Given the description of an element on the screen output the (x, y) to click on. 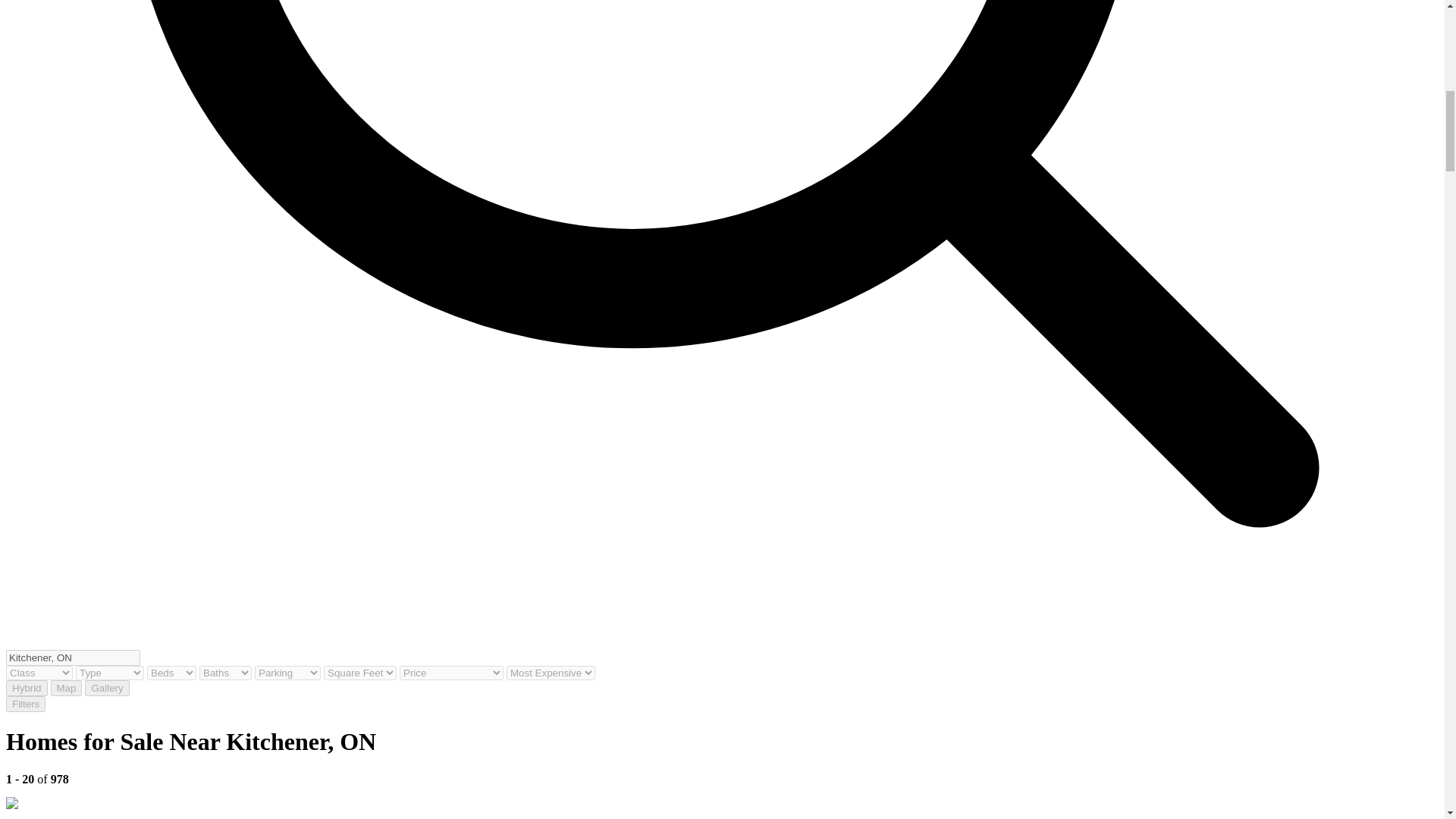
Gallery (106, 688)
Filters (25, 703)
Kitchener, ON (72, 657)
Map (66, 688)
Hybrid (26, 688)
